Given the description of an element on the screen output the (x, y) to click on. 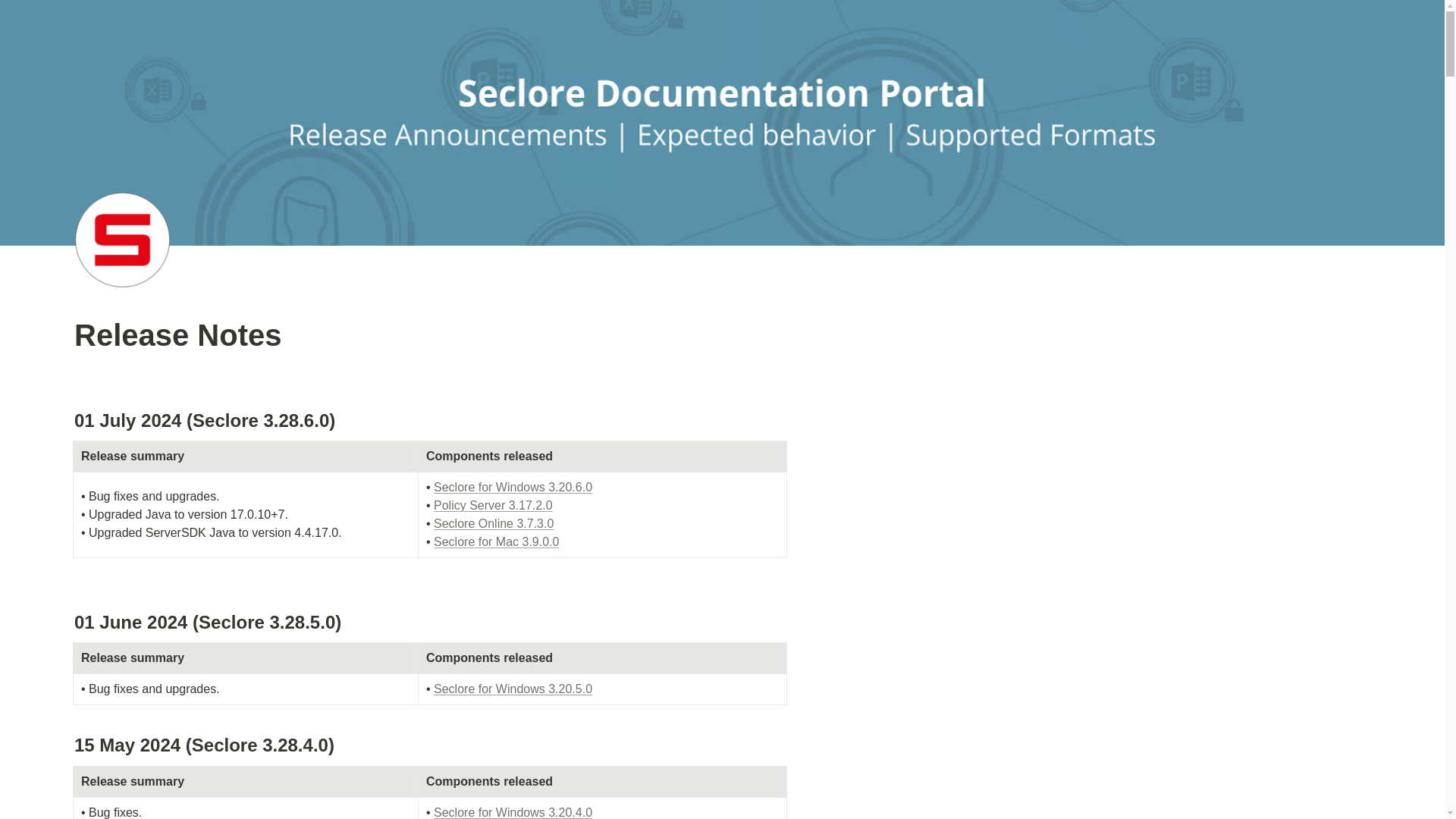
Seclore for Windows 3.20.4.0 (512, 812)
Policy Server 3.17.2.0 (493, 504)
Seclore for Windows 3.20.6.0 (512, 486)
Seclore for Mac 3.9.0.0 (496, 541)
Seclore Online 3.7.3.0 (493, 522)
Seclore for Windows 3.20.5.0 (512, 688)
